Given the description of an element on the screen output the (x, y) to click on. 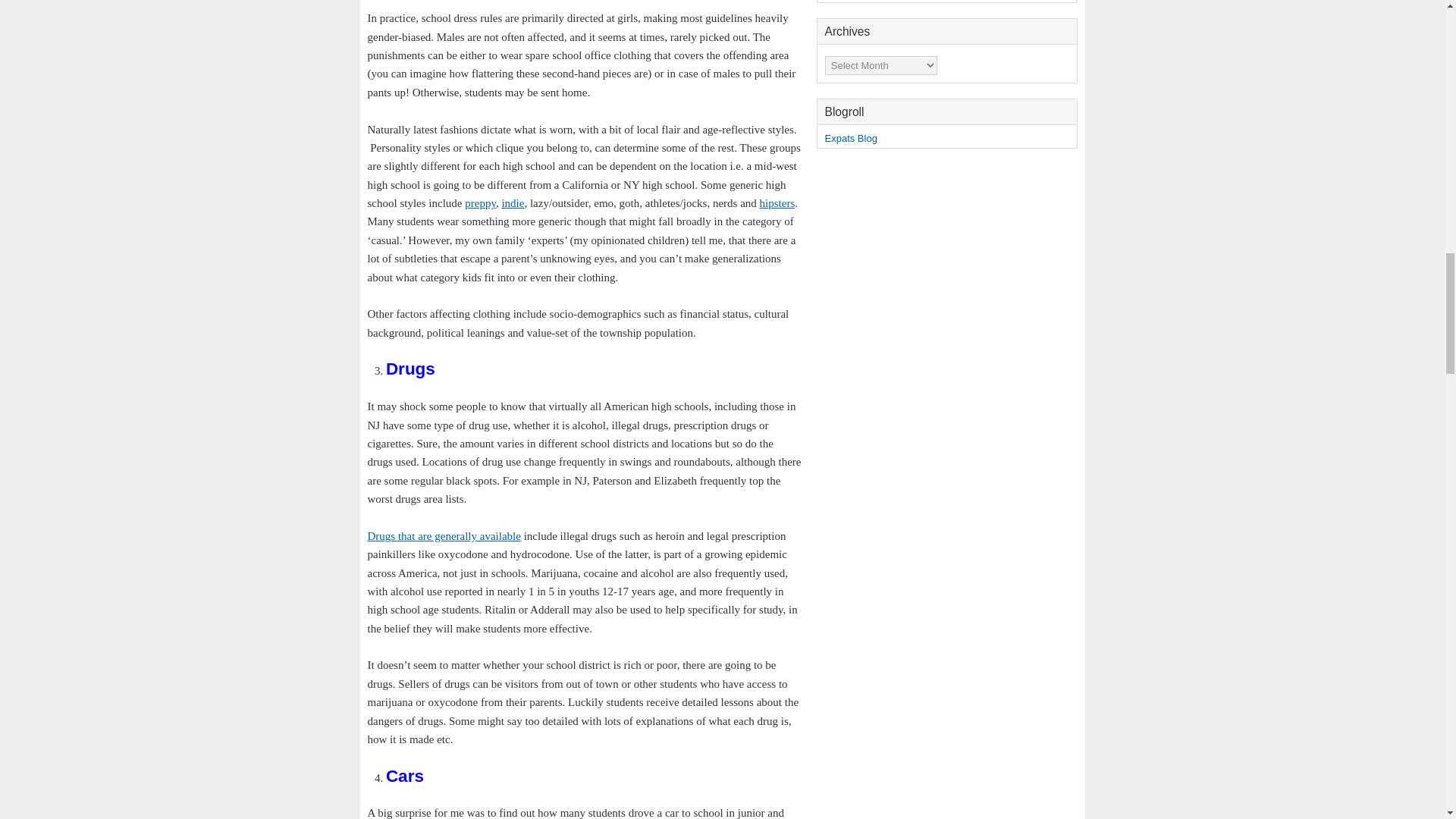
Expat Blogs in the USA on the Expat Blogs site (851, 138)
hipsters (777, 203)
indie (512, 203)
Drugs that are generally available (442, 535)
preppy (480, 203)
